Given the description of an element on the screen output the (x, y) to click on. 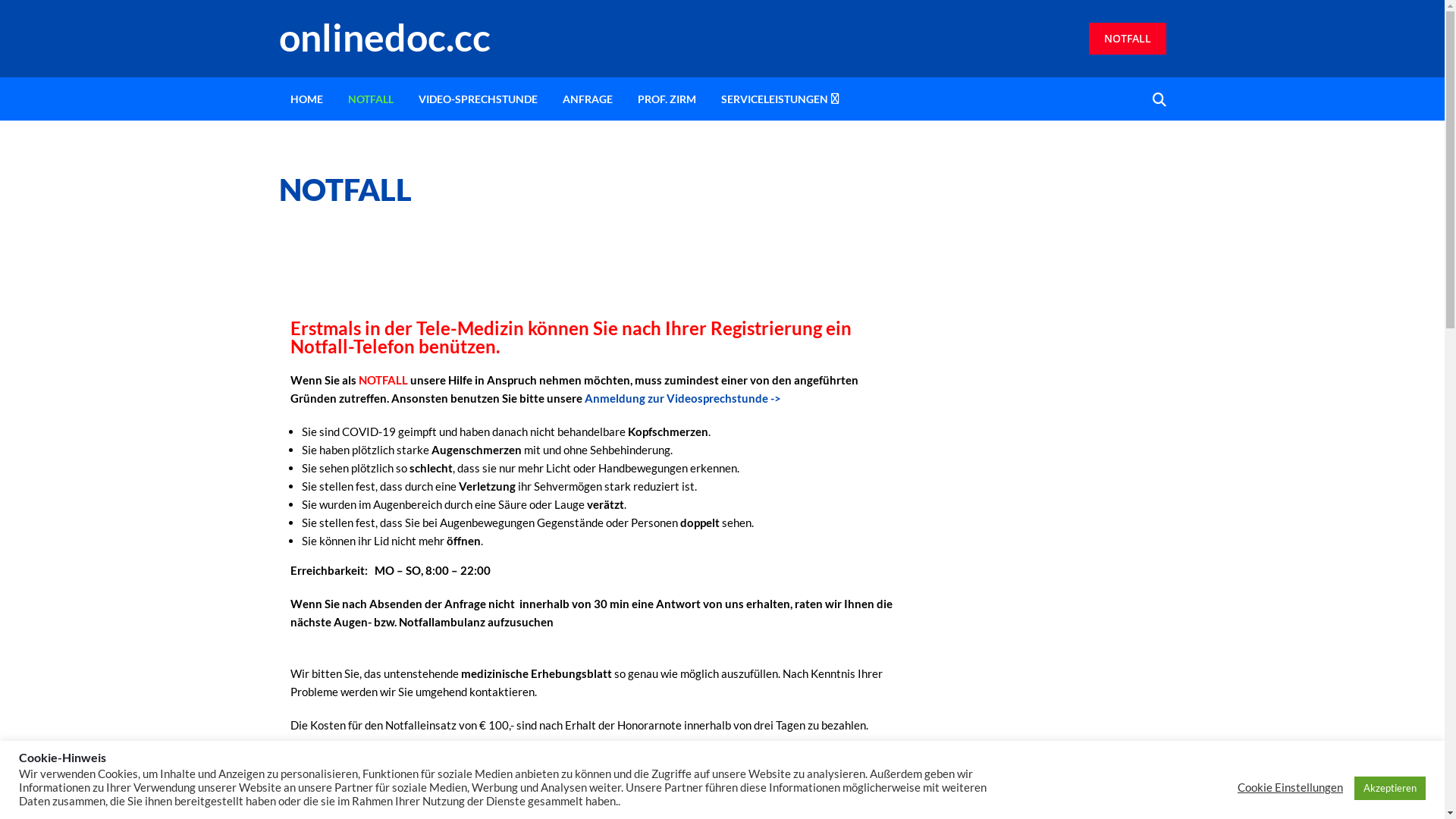
NOTFALL Element type: text (1127, 38)
SERVICELEISTUNGEN Element type: text (774, 98)
Anmeldung zur Videosprechstunde -> Element type: text (681, 397)
Cookie Einstellungen Element type: text (1290, 787)
VIDEO-SPRECHSTUNDE Element type: text (477, 98)
ANFRAGE Element type: text (586, 98)
PROF. ZIRM Element type: text (666, 98)
HOME Element type: text (306, 98)
onlinedoc.cc Element type: text (359, 38)
Akzeptieren Element type: text (1389, 788)
NOTFALL Element type: text (370, 98)
